Given the description of an element on the screen output the (x, y) to click on. 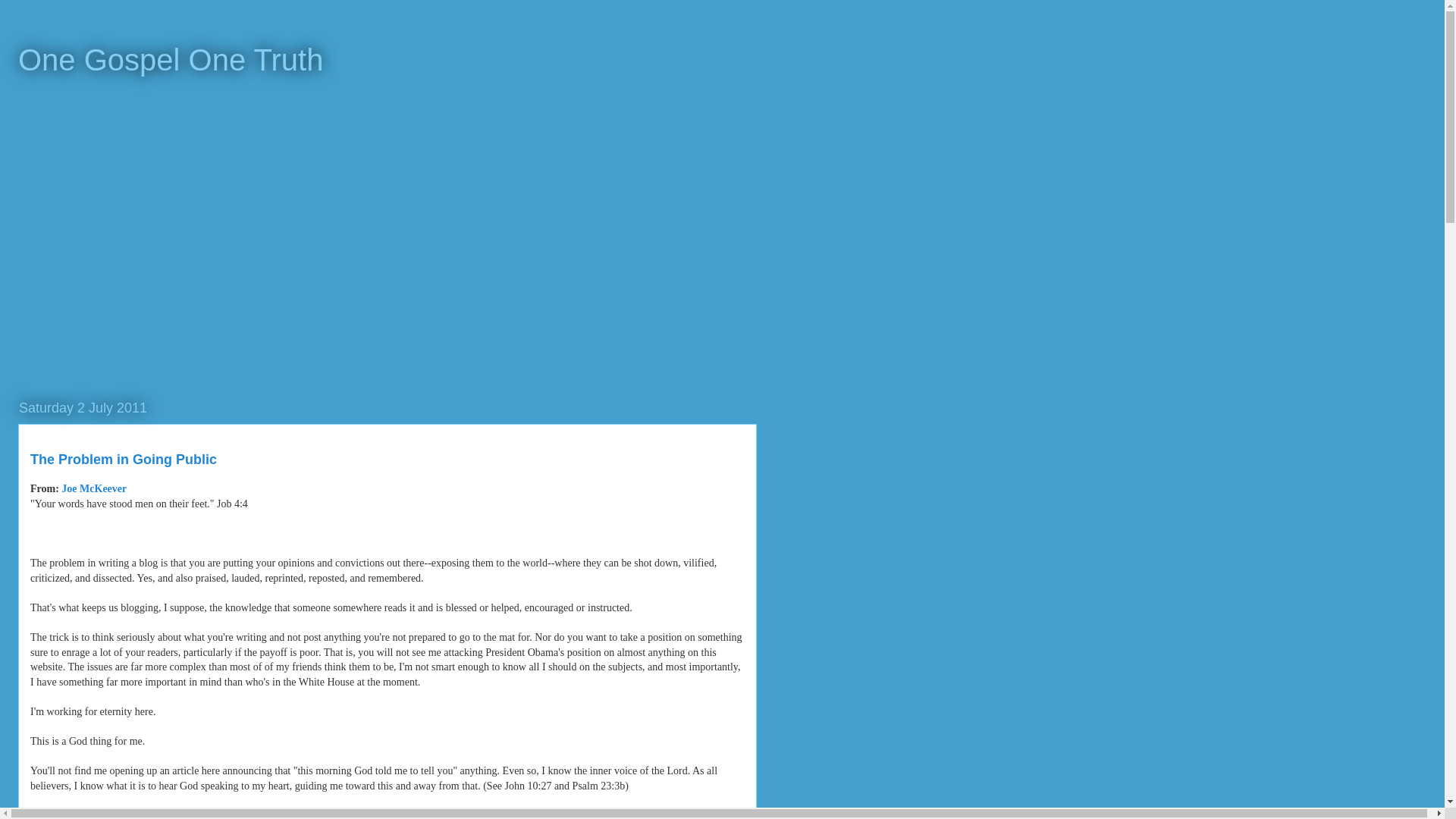
Joe McKeever (93, 488)
One Gospel One Truth (170, 59)
The Problem in Going Public (123, 459)
